Given the description of an element on the screen output the (x, y) to click on. 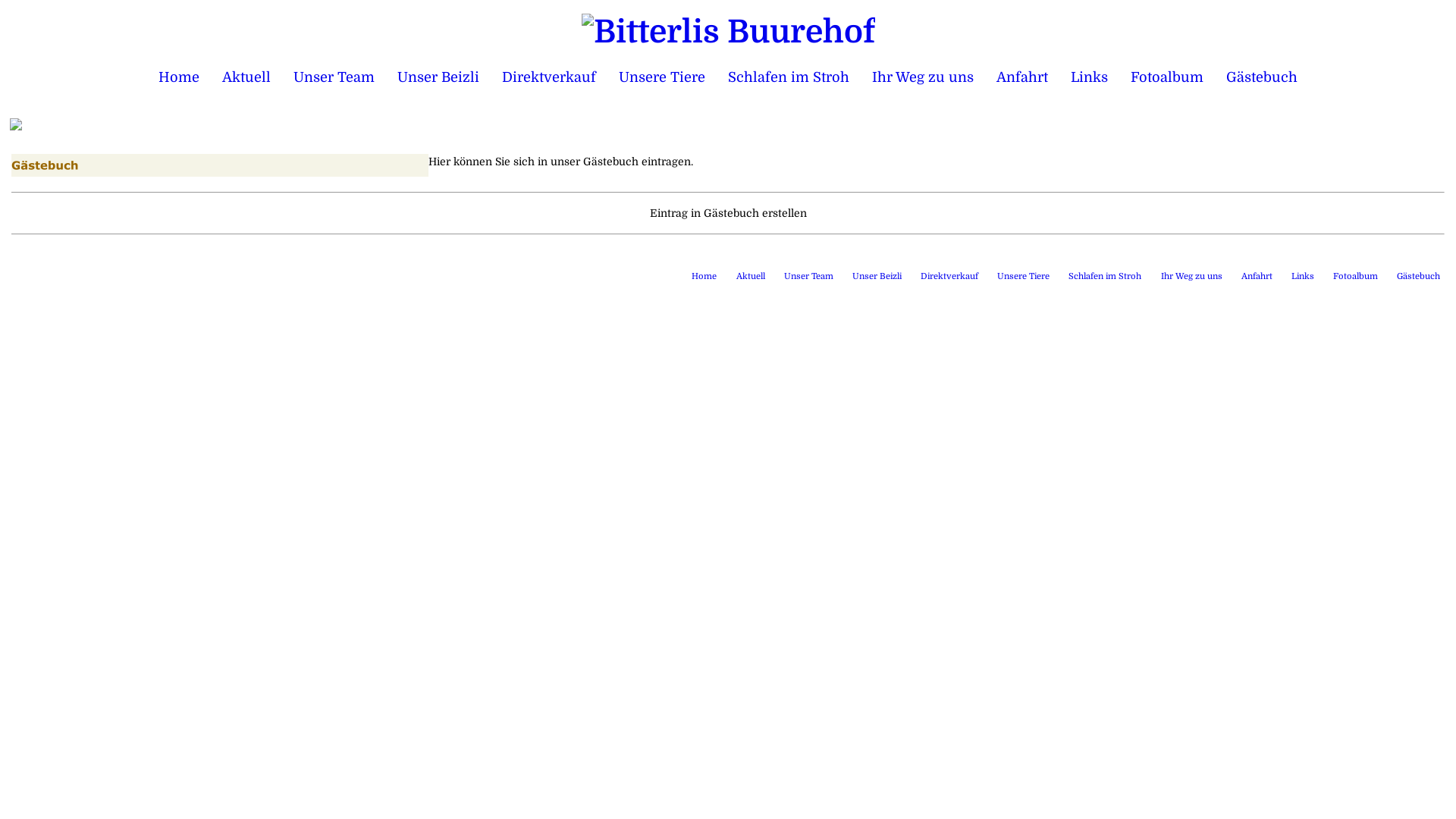
Schlafen im Stroh Element type: text (788, 77)
Aktuell Element type: text (750, 275)
Anfahrt Element type: text (1021, 77)
Direktverkauf Element type: text (548, 77)
Unser Team Element type: text (808, 275)
Schlafen im Stroh Element type: text (1104, 275)
Ihr Weg zu uns Element type: text (922, 77)
Direktverkauf Element type: text (949, 275)
Unsere Tiere Element type: text (1022, 275)
Links Element type: text (1089, 77)
Unser Team Element type: text (333, 77)
Anfahrt Element type: text (1256, 275)
Unser Beizli Element type: text (876, 275)
Ihr Weg zu uns Element type: text (1191, 275)
Home Element type: text (178, 77)
Unsere Tiere Element type: text (661, 77)
Fotoalbum Element type: text (1355, 275)
Home Element type: text (703, 275)
Aktuell Element type: text (246, 77)
Fotoalbum Element type: text (1167, 77)
Links Element type: text (1302, 275)
Unser Beizli Element type: text (437, 77)
